Given the description of an element on the screen output the (x, y) to click on. 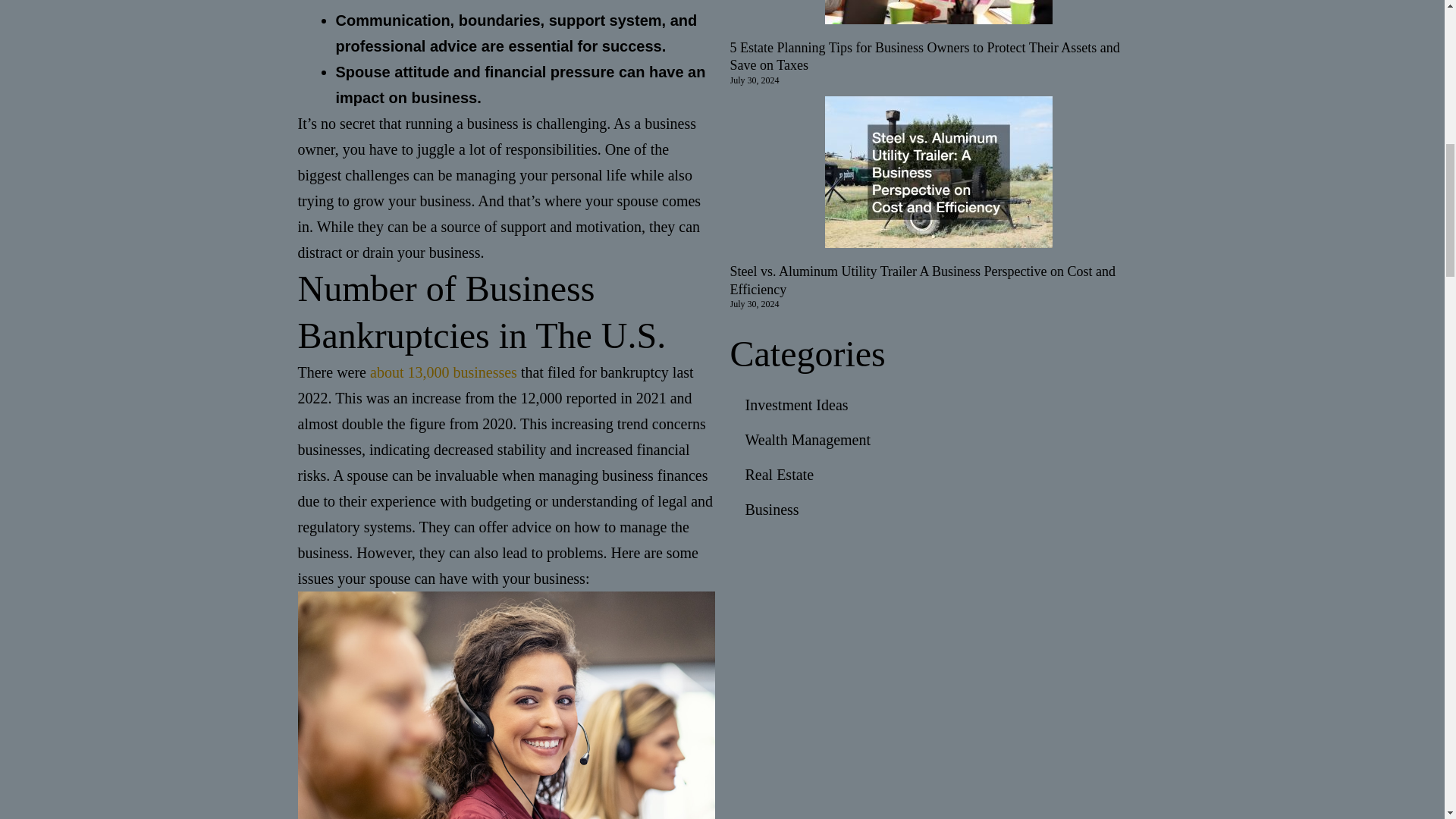
Business (938, 509)
Real Estate (938, 474)
Investment Ideas (938, 404)
about 13,000 businesses (442, 371)
Wealth Management (938, 439)
Business support (505, 705)
